Given the description of an element on the screen output the (x, y) to click on. 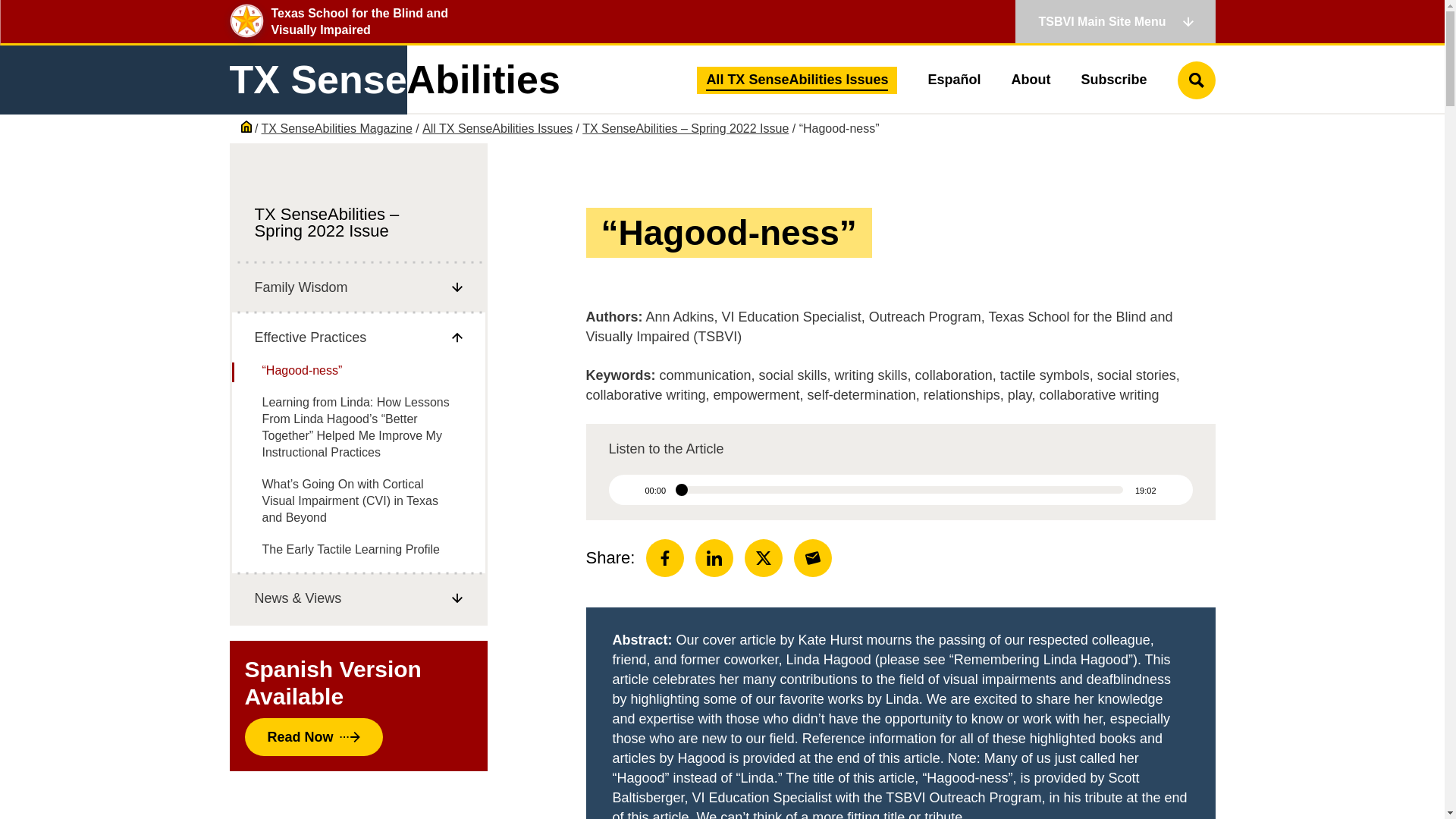
Share to Email (812, 557)
Share to Twitter (763, 557)
Subscribe (1113, 79)
Go to homepage (362, 20)
Texas School for the Blind and Visually Impaired (362, 20)
Share to Facebook (665, 557)
Mute (1171, 489)
All TX SenseAbilities Issues (797, 79)
Skip to main content (28, 28)
Go to TX SenseAbilities homepage (393, 79)
